Given the description of an element on the screen output the (x, y) to click on. 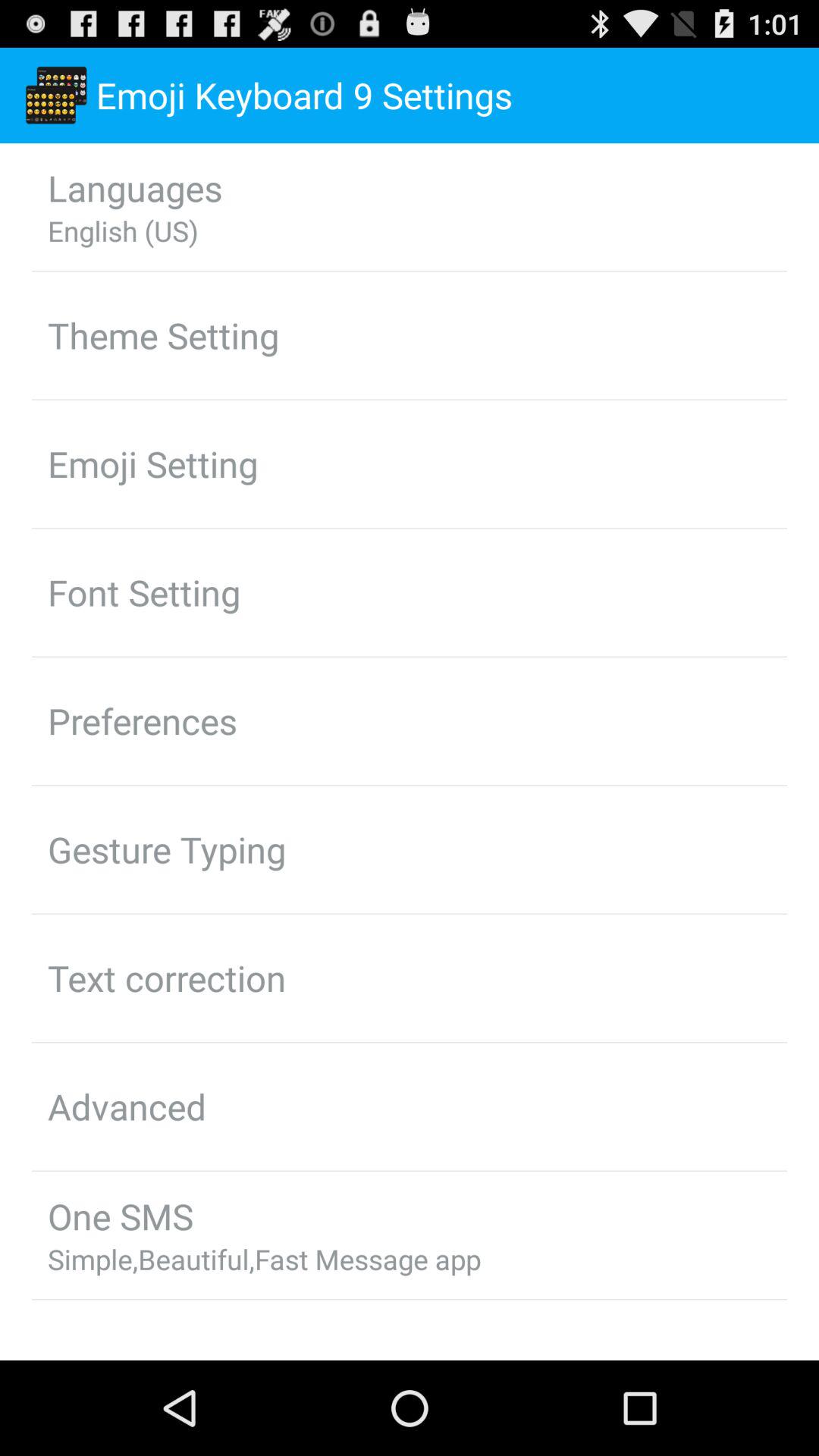
click icon above simple beautiful fast icon (120, 1216)
